Given the description of an element on the screen output the (x, y) to click on. 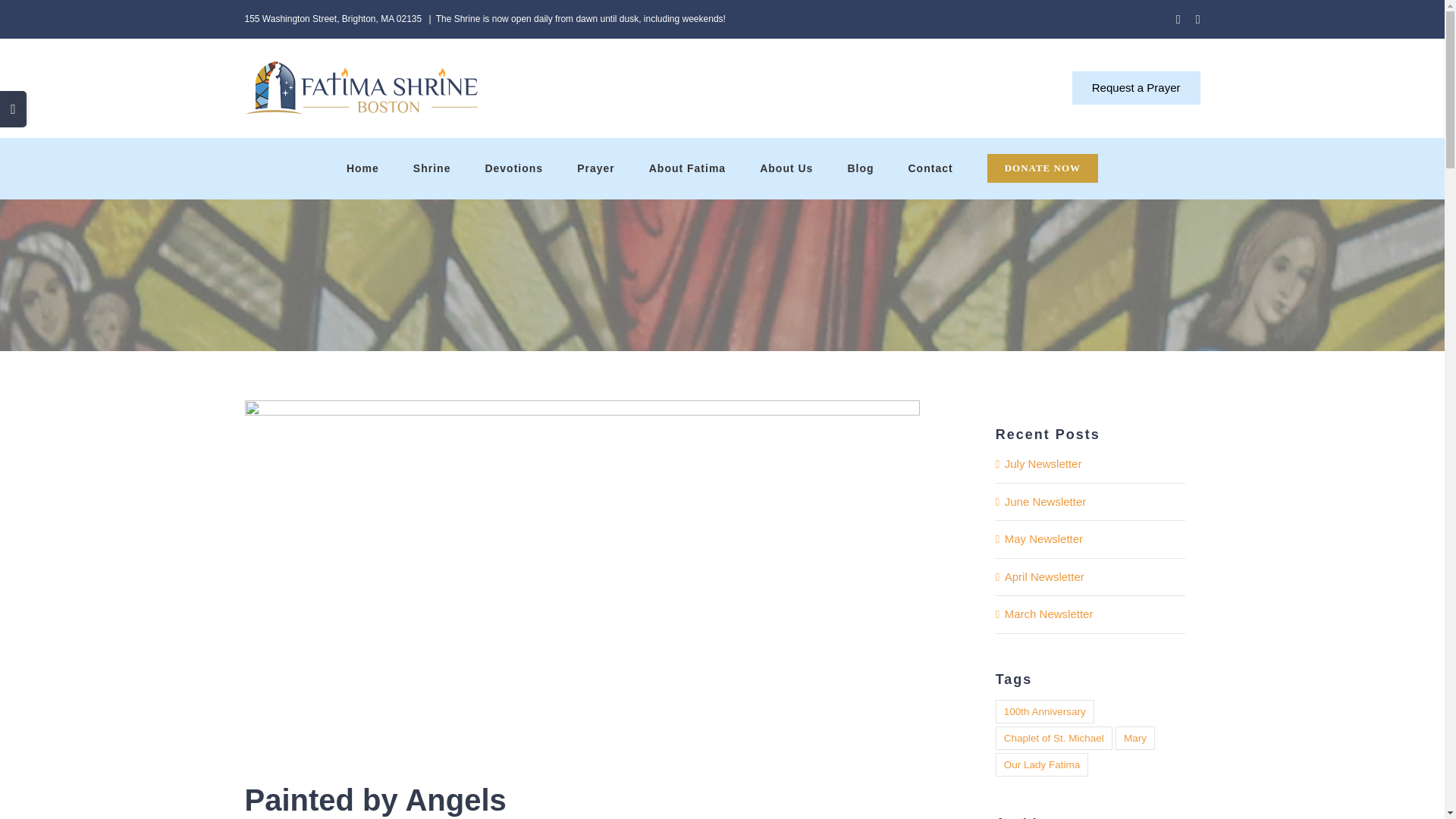
Home (362, 168)
Shrine (431, 168)
Prayer (595, 168)
Devotions (513, 168)
Request a Prayer (1135, 88)
About Fatima (686, 168)
About Us (785, 168)
